Given the description of an element on the screen output the (x, y) to click on. 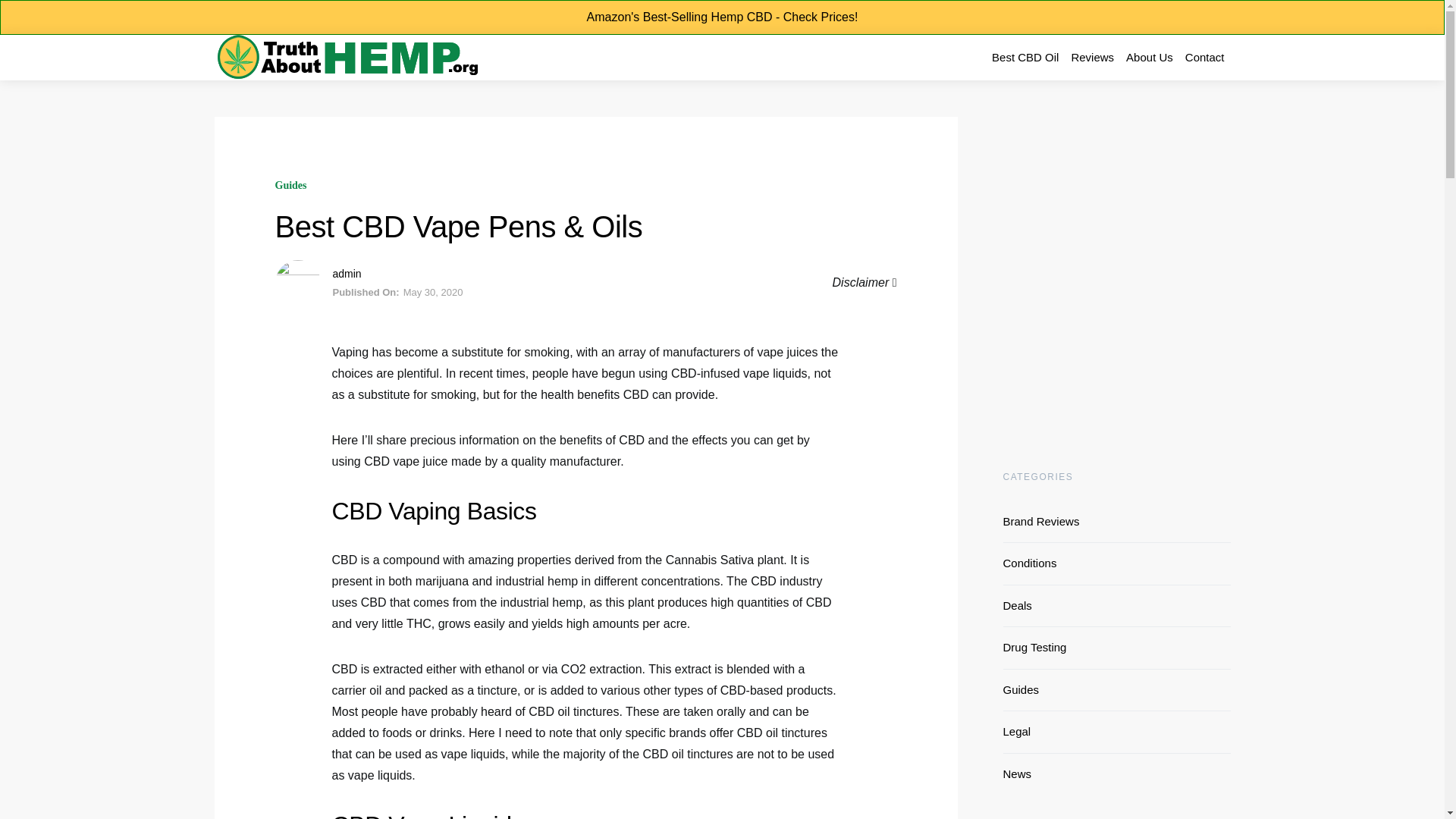
admin (346, 273)
Drug Testing (1038, 647)
Legal (1020, 732)
Deals (1021, 605)
News (1021, 773)
Guides (290, 184)
Brand Reviews (1045, 520)
Amazon's Best-Selling Hemp CBD - Check Prices! (722, 16)
Contact (1204, 57)
Reviews (1091, 57)
